Given the description of an element on the screen output the (x, y) to click on. 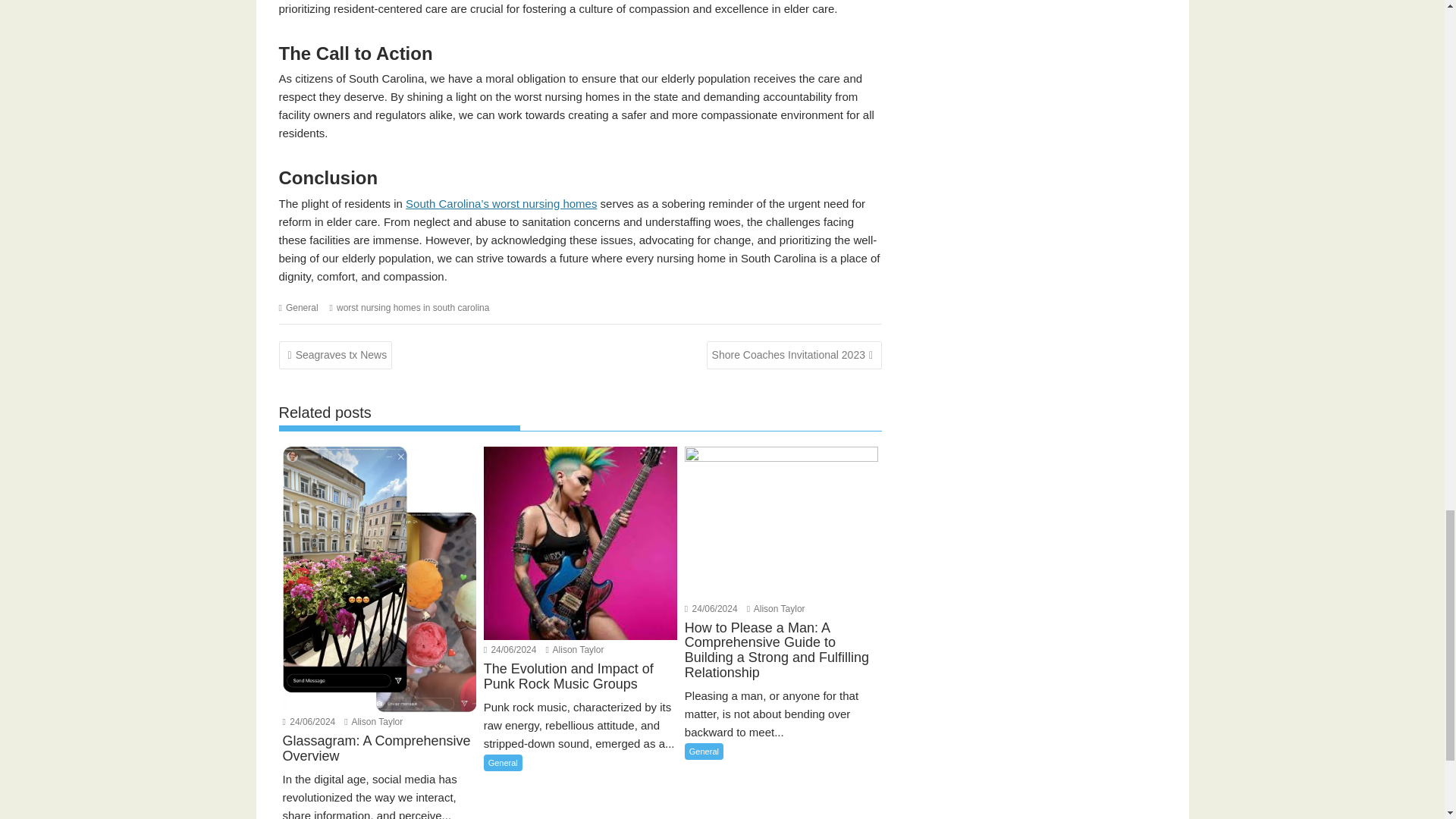
Alison Taylor (775, 608)
Alison Taylor (373, 721)
Alison Taylor (575, 649)
